Given the description of an element on the screen output the (x, y) to click on. 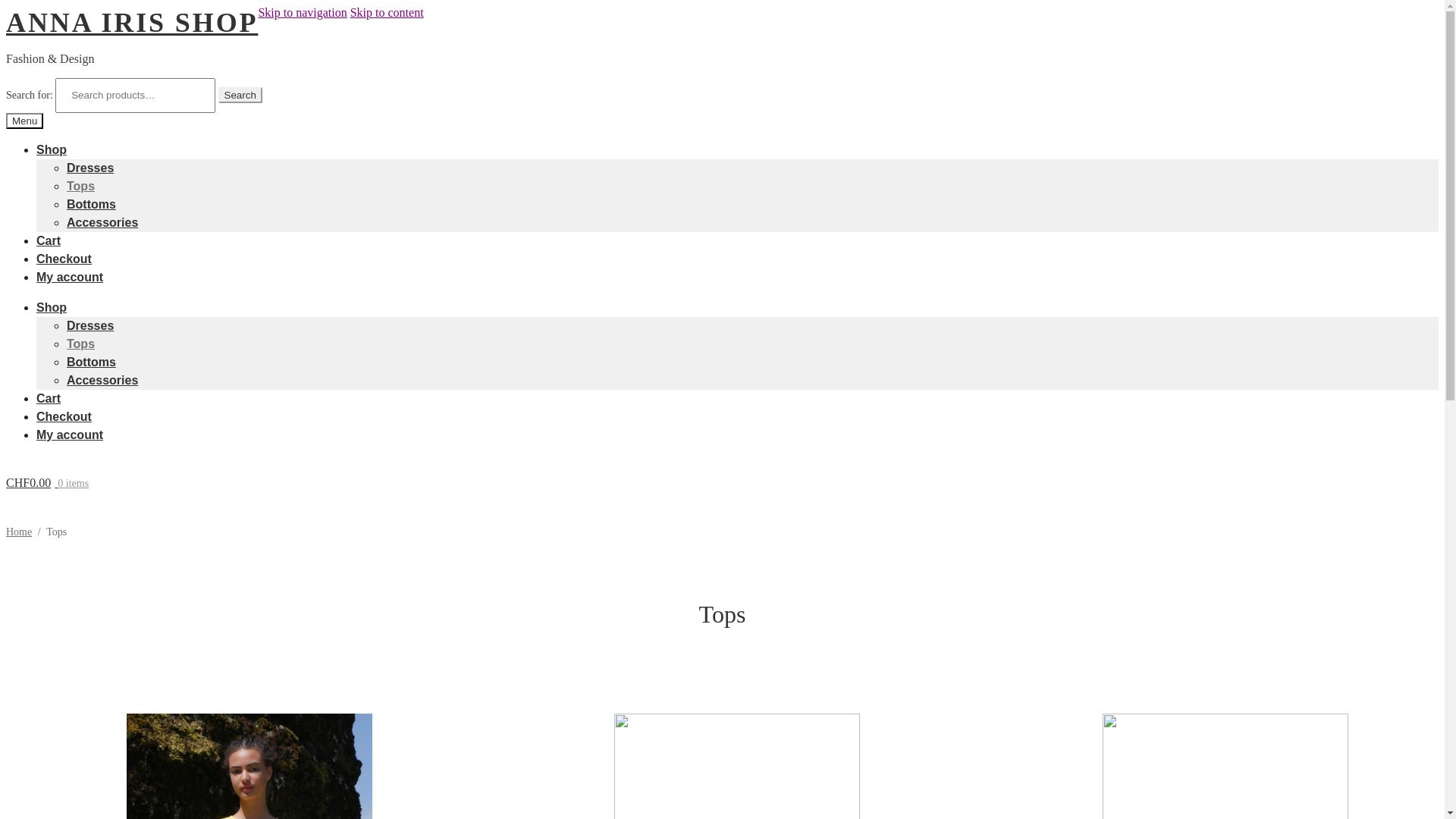
Checkout Element type: text (63, 416)
My account Element type: text (69, 434)
Tops Element type: text (80, 185)
CHF0.00 0 items Element type: text (722, 482)
Tops Element type: text (80, 343)
Accessories Element type: text (102, 379)
Bottoms Element type: text (91, 203)
Dresses Element type: text (89, 167)
Skip to navigation Element type: text (301, 12)
Bottoms Element type: text (91, 361)
Shop Element type: text (51, 307)
Checkout Element type: text (63, 258)
ANNA IRIS SHOP Element type: text (131, 22)
Dresses Element type: text (89, 325)
Skip to content Element type: text (386, 12)
Menu Element type: text (24, 120)
Cart Element type: text (48, 240)
Search Element type: text (240, 95)
Shop Element type: text (51, 149)
My account Element type: text (69, 276)
Cart Element type: text (48, 398)
Home Element type: text (18, 531)
Accessories Element type: text (102, 222)
